Given the description of an element on the screen output the (x, y) to click on. 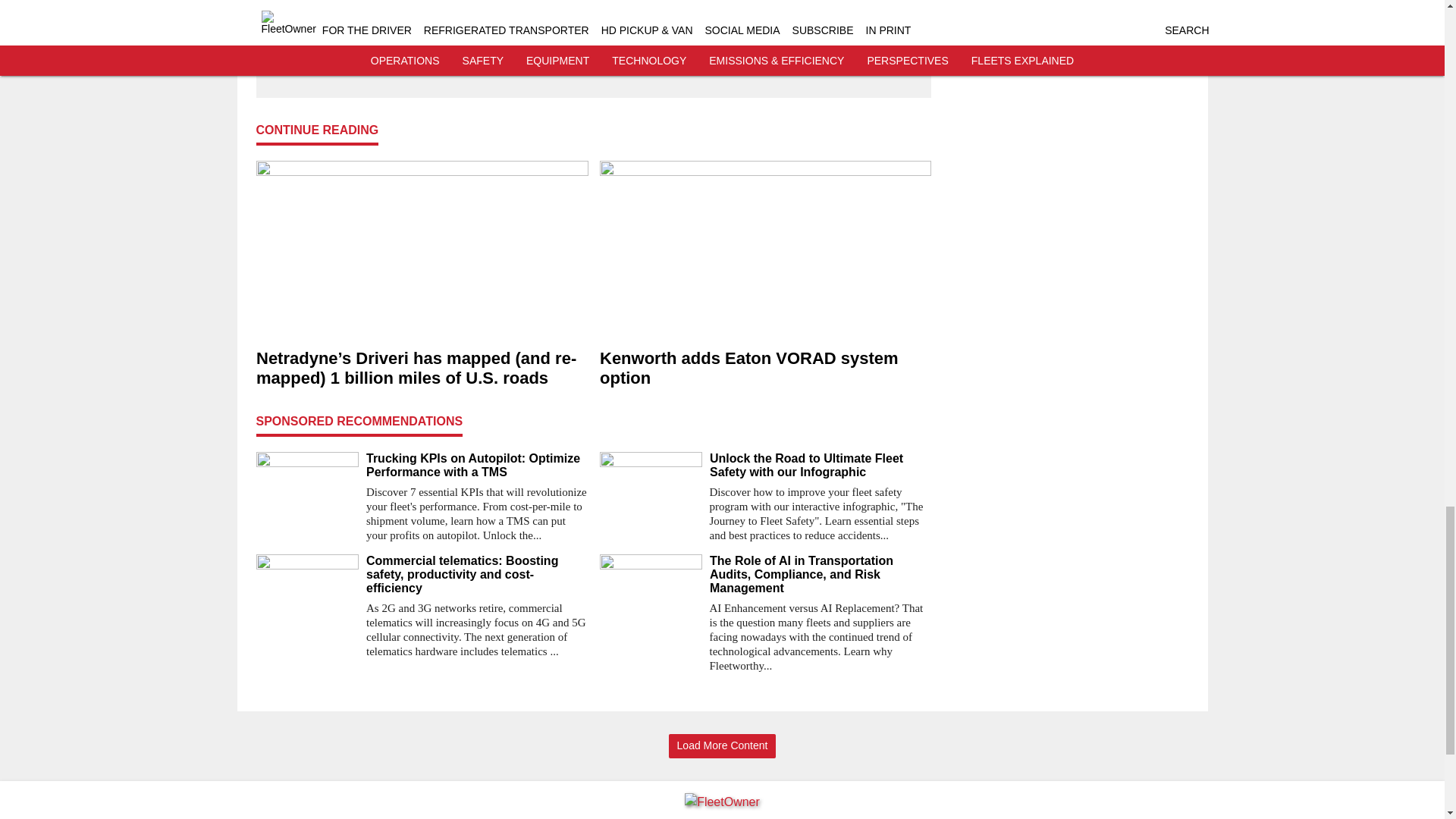
Join today! (593, 30)
I already have an account (593, 60)
Trucking KPIs on Autopilot: Optimize Performance with a TMS (476, 465)
Kenworth adds Eaton VORAD system option (764, 369)
